Given the description of an element on the screen output the (x, y) to click on. 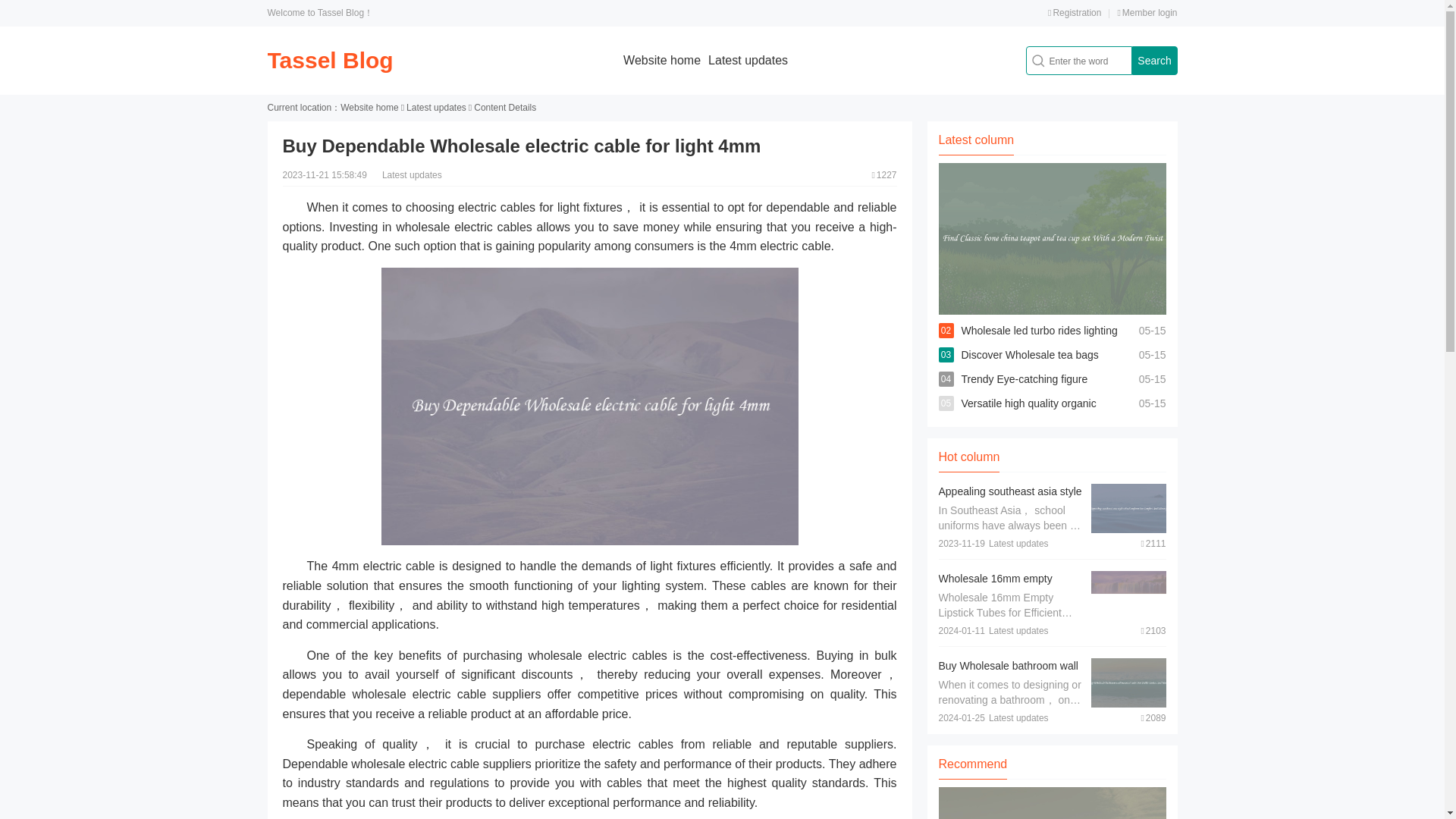
Latest updates (435, 107)
Website home (661, 60)
Member login (1146, 12)
Registration (1074, 12)
Trendy Eye-catching figure paintings for sale For Decoration (1037, 391)
Discover Wholesale tea bags viscose To Boost Vitality (1029, 366)
Latest updates (747, 60)
Website home (368, 107)
Search (1153, 60)
Tassel Blog (329, 59)
